Given the description of an element on the screen output the (x, y) to click on. 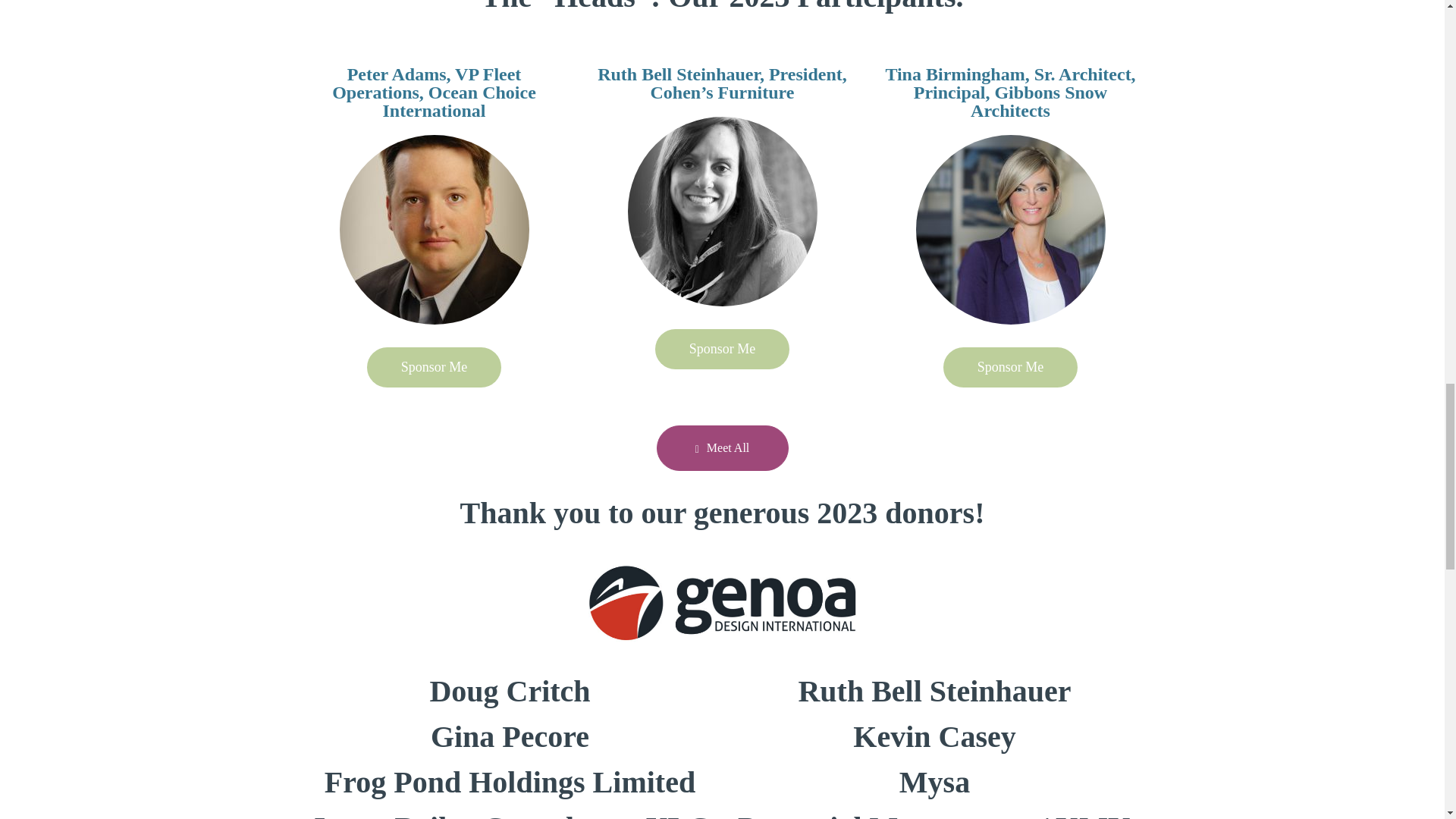
Meet All (722, 447)
Sponsor Me (434, 367)
Sponsor Me (722, 349)
Sponsor Me (1010, 367)
